Given the description of an element on the screen output the (x, y) to click on. 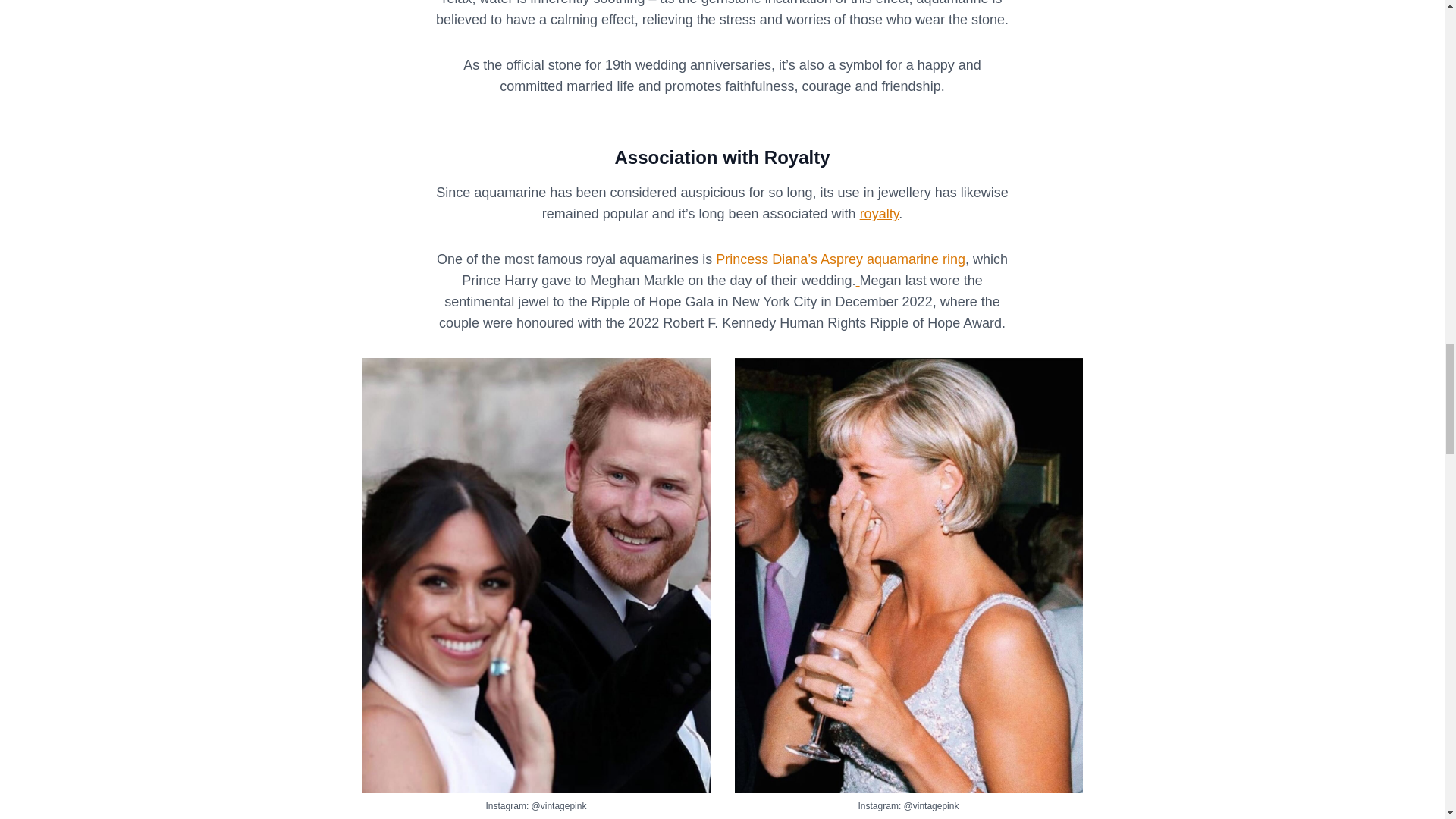
royalty (879, 213)
